Given the description of an element on the screen output the (x, y) to click on. 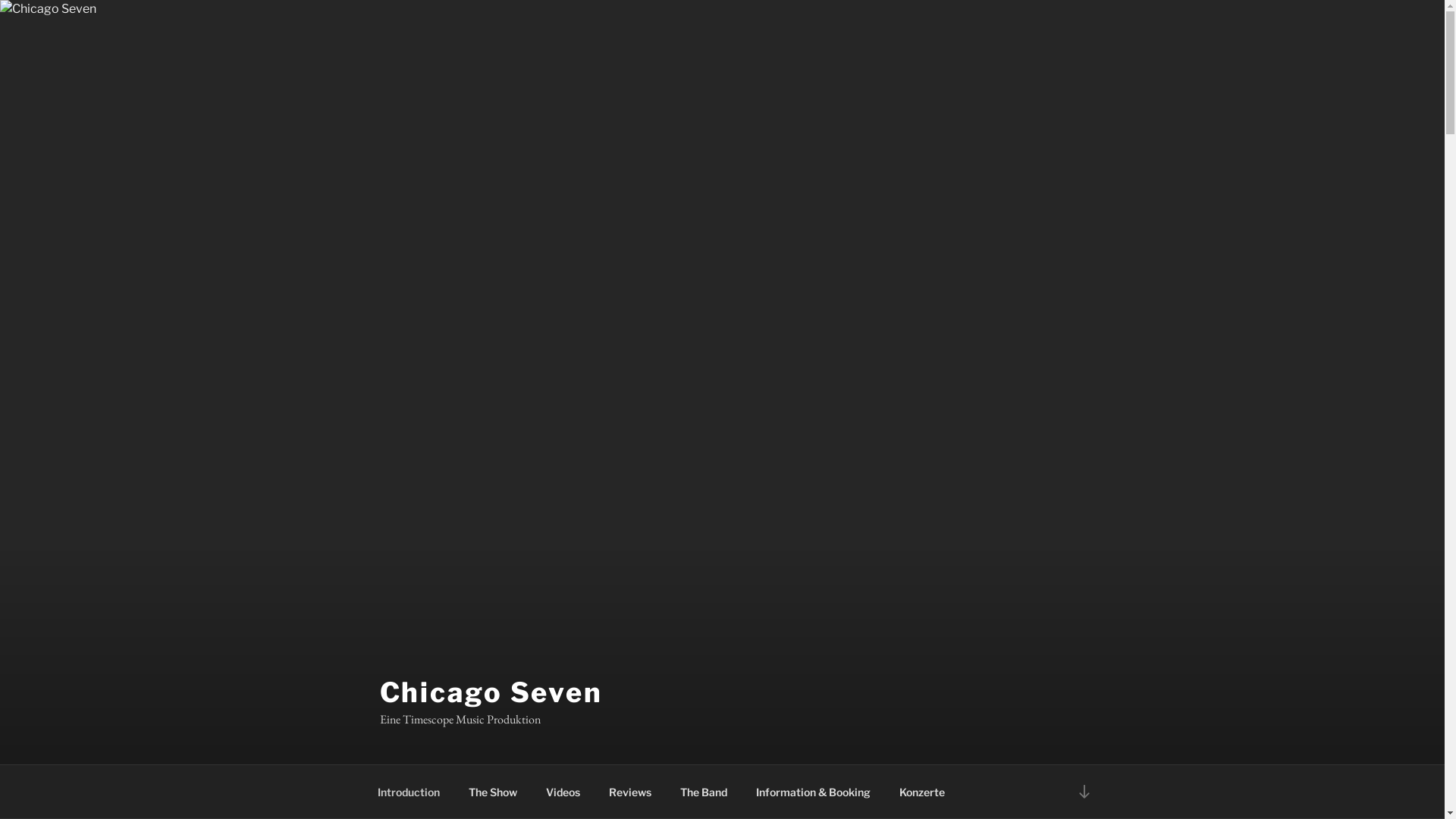
Introduction Element type: text (408, 791)
Information & Booking Element type: text (813, 791)
Chicago Seven Element type: text (490, 692)
The Show Element type: text (492, 791)
The Band Element type: text (703, 791)
Konzerte Element type: text (921, 791)
Zum Inhalt nach unten scrollen Element type: text (1083, 790)
Reviews Element type: text (630, 791)
Videos Element type: text (562, 791)
Zum Inhalt springen Element type: text (0, 0)
